Given the description of an element on the screen output the (x, y) to click on. 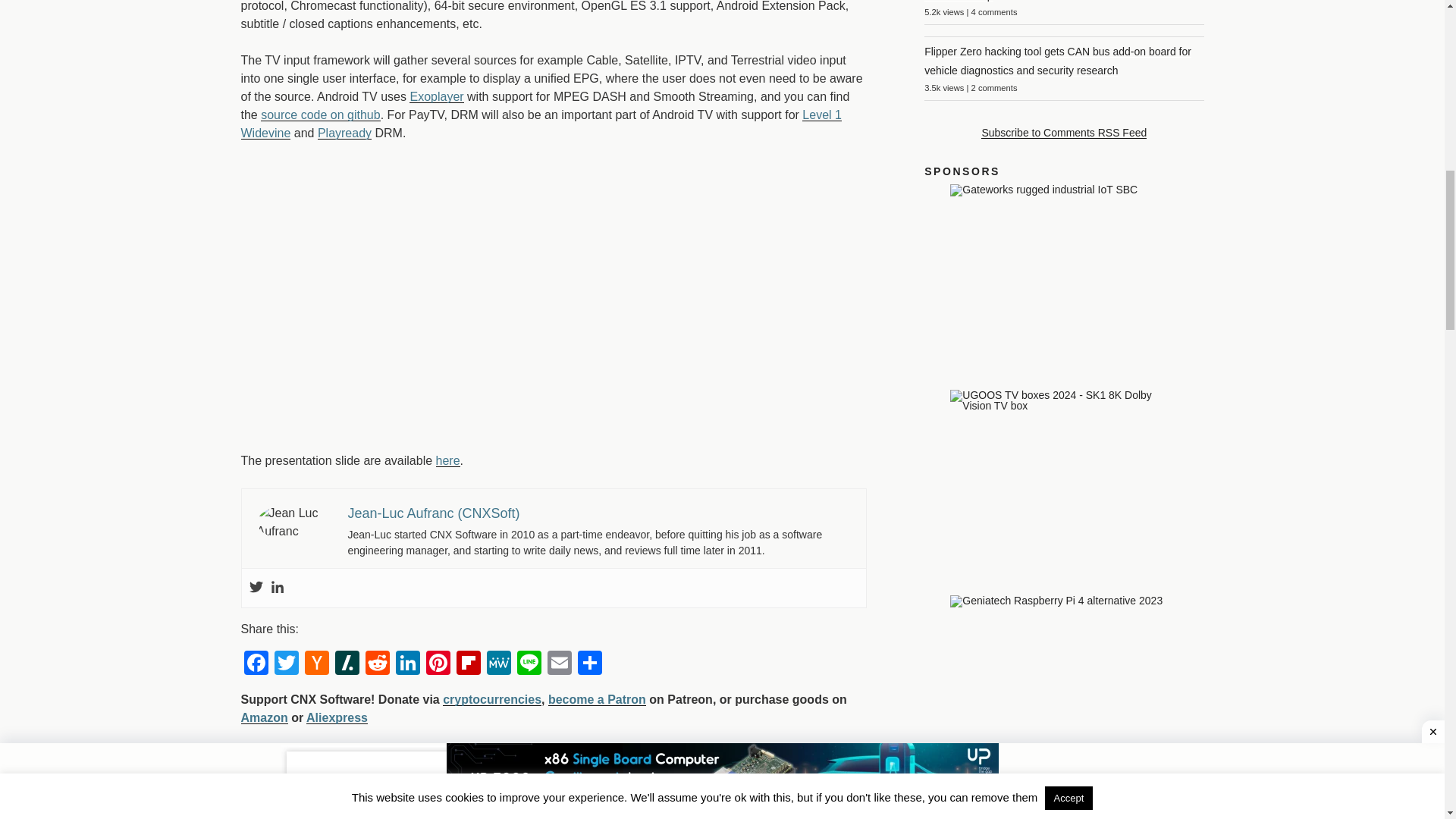
Slashdot (346, 664)
Reddit (377, 664)
Flipboard (467, 664)
Facebook (255, 664)
Pinterest (437, 664)
Hacker News (316, 664)
MeWe (498, 664)
Exoplayer (436, 96)
LinkedIn (408, 664)
source code on github (320, 114)
Line (528, 664)
Level 1 Widevine (541, 123)
here (447, 460)
Playready (344, 132)
Twitter (285, 664)
